Given the description of an element on the screen output the (x, y) to click on. 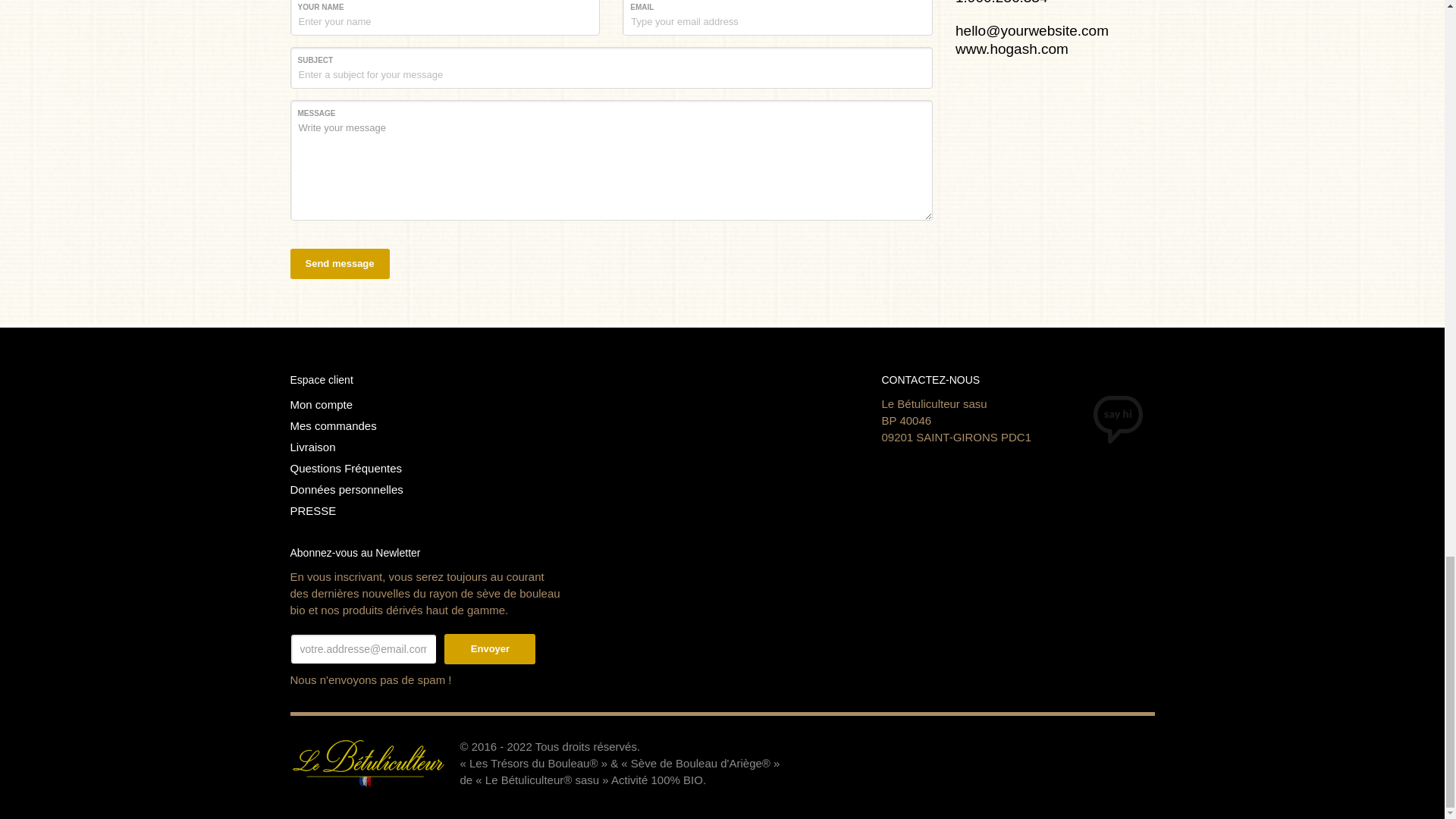
Envoyer (489, 649)
